Given the description of an element on the screen output the (x, y) to click on. 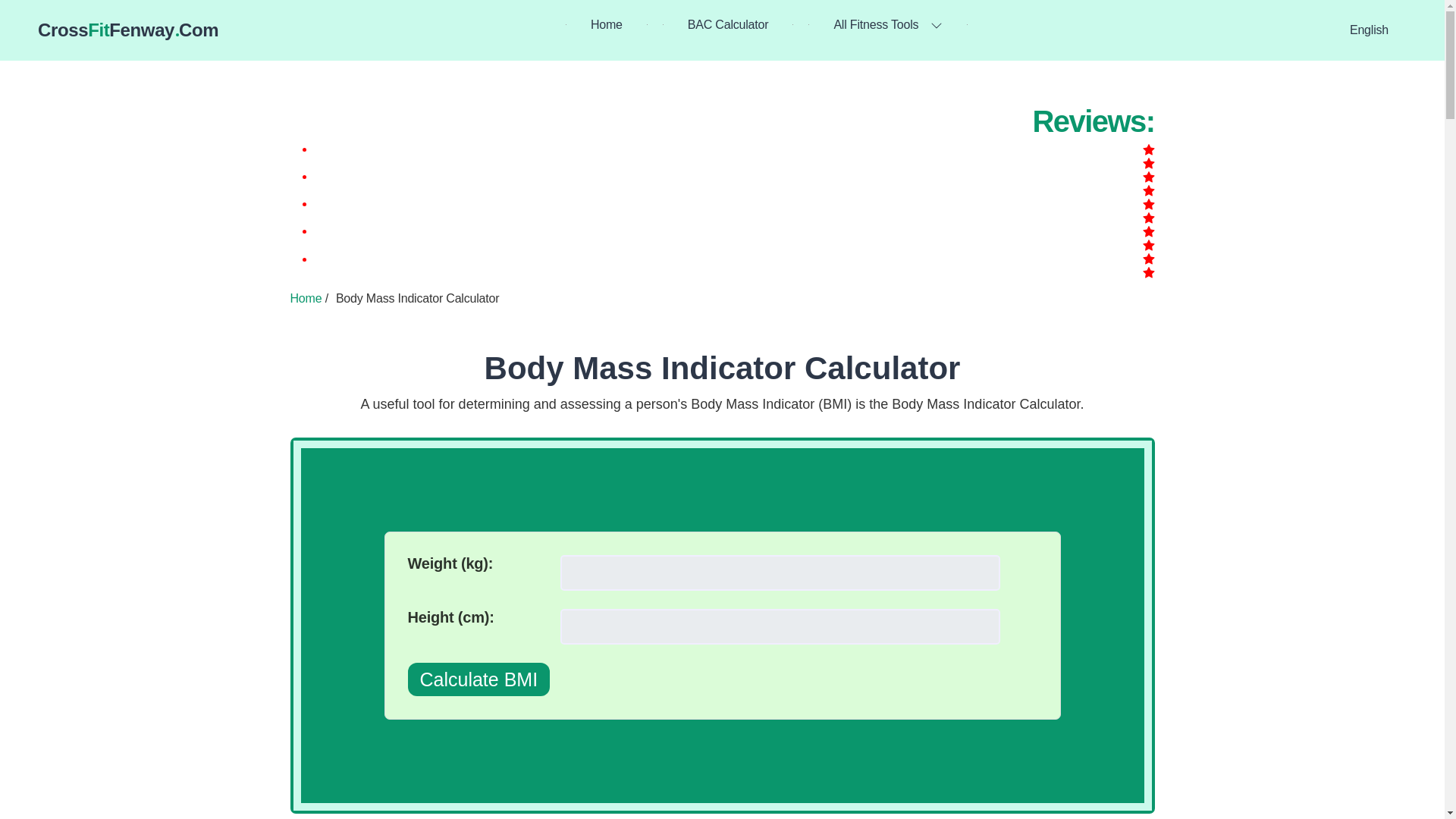
Home (305, 297)
Body Mass Indicator Calculator (722, 367)
Calculate BMI (478, 679)
Home (607, 24)
BAC Calculator (727, 24)
